Given the description of an element on the screen output the (x, y) to click on. 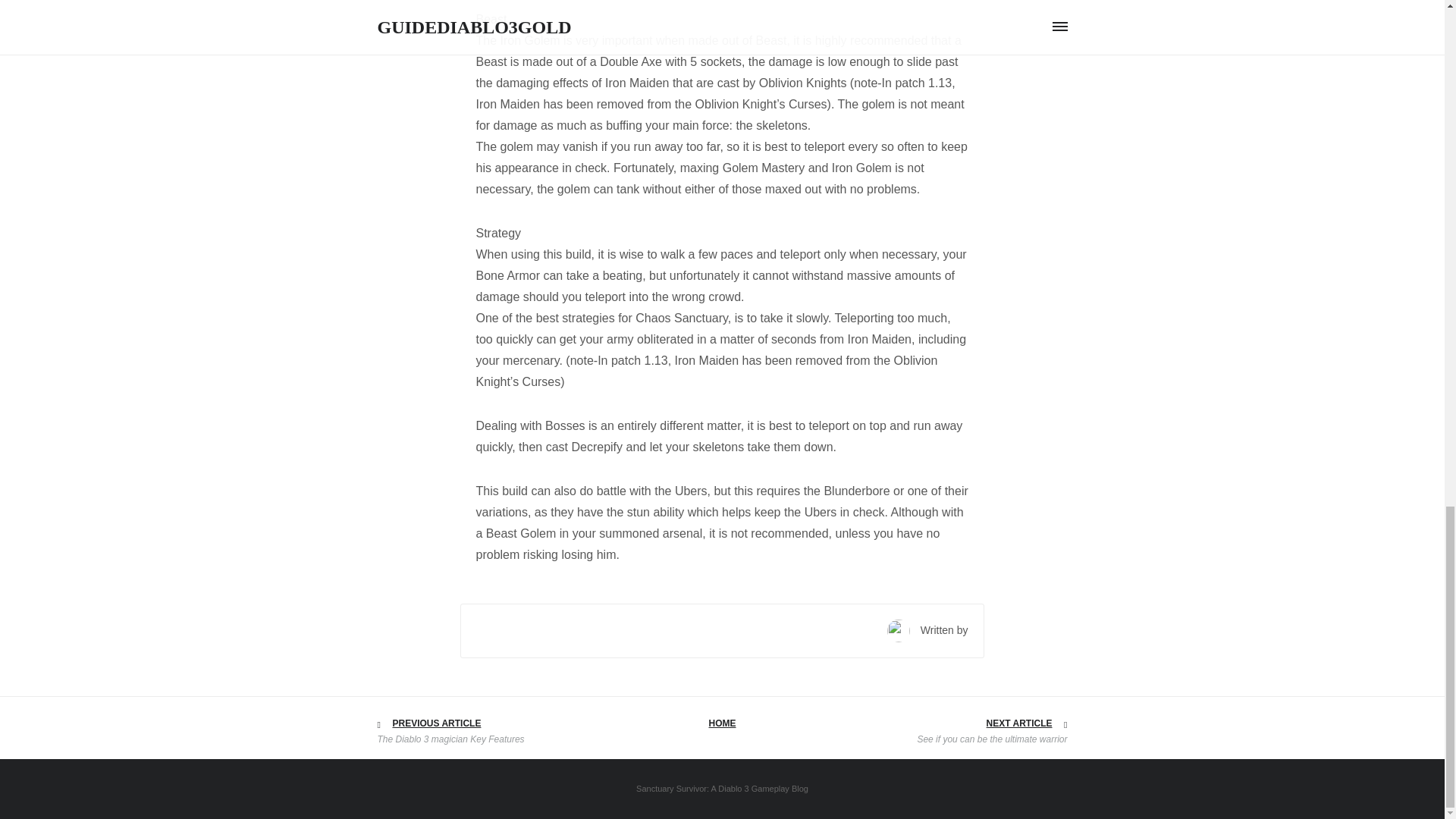
HOME (721, 723)
NEXT ARTICLE (1019, 723)
PREVIOUS ARTICLE (437, 723)
